Given the description of an element on the screen output the (x, y) to click on. 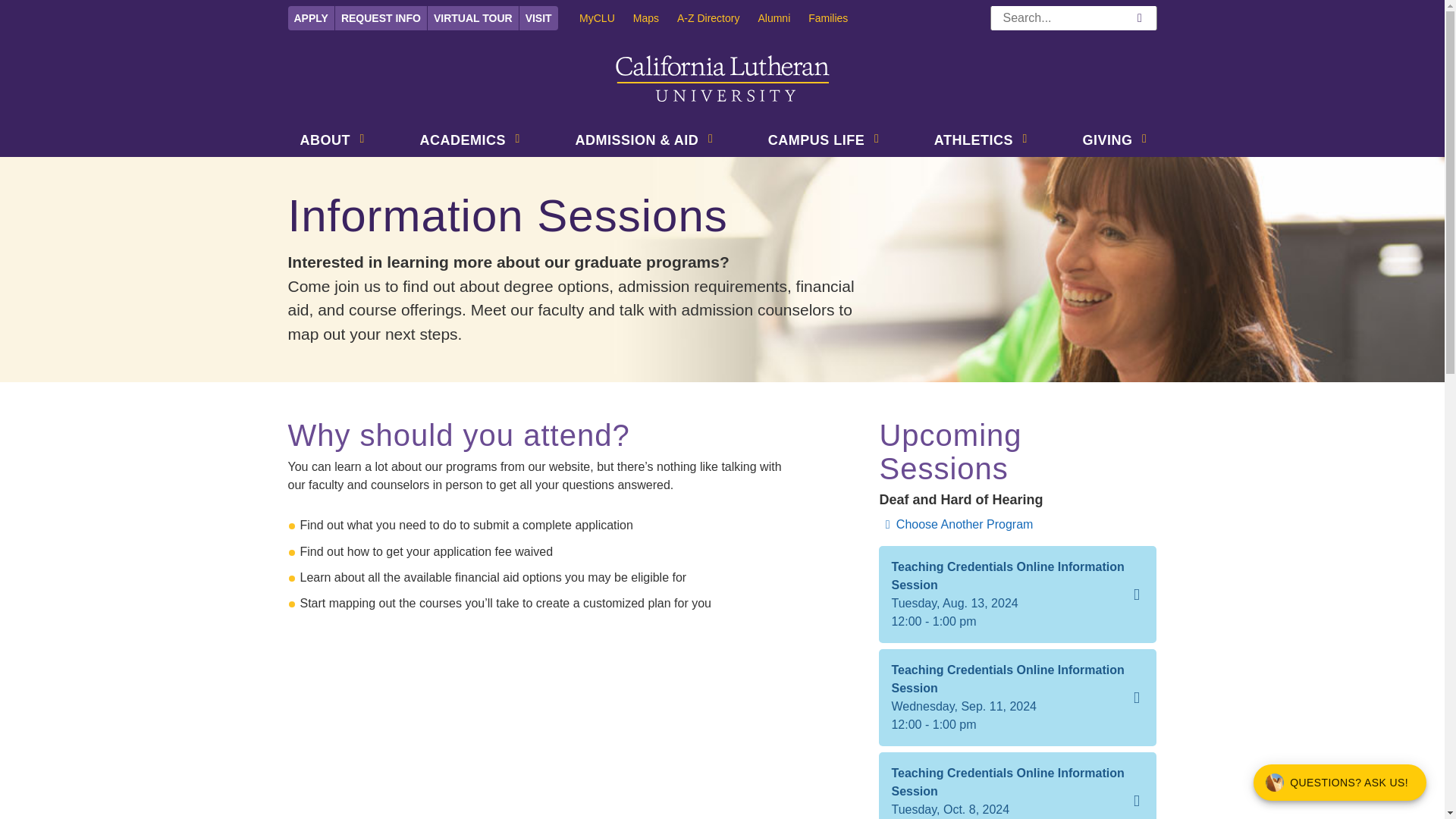
Maps (655, 17)
California Lutheran University (722, 78)
APPLY (311, 17)
VIRTUAL TOUR (473, 17)
Families (837, 17)
ABOUT (322, 141)
QUESTIONS? ASK US! (1339, 782)
REQUEST INFO (380, 17)
Alumni (782, 17)
A-Z Directory (717, 17)
